Given the description of an element on the screen output the (x, y) to click on. 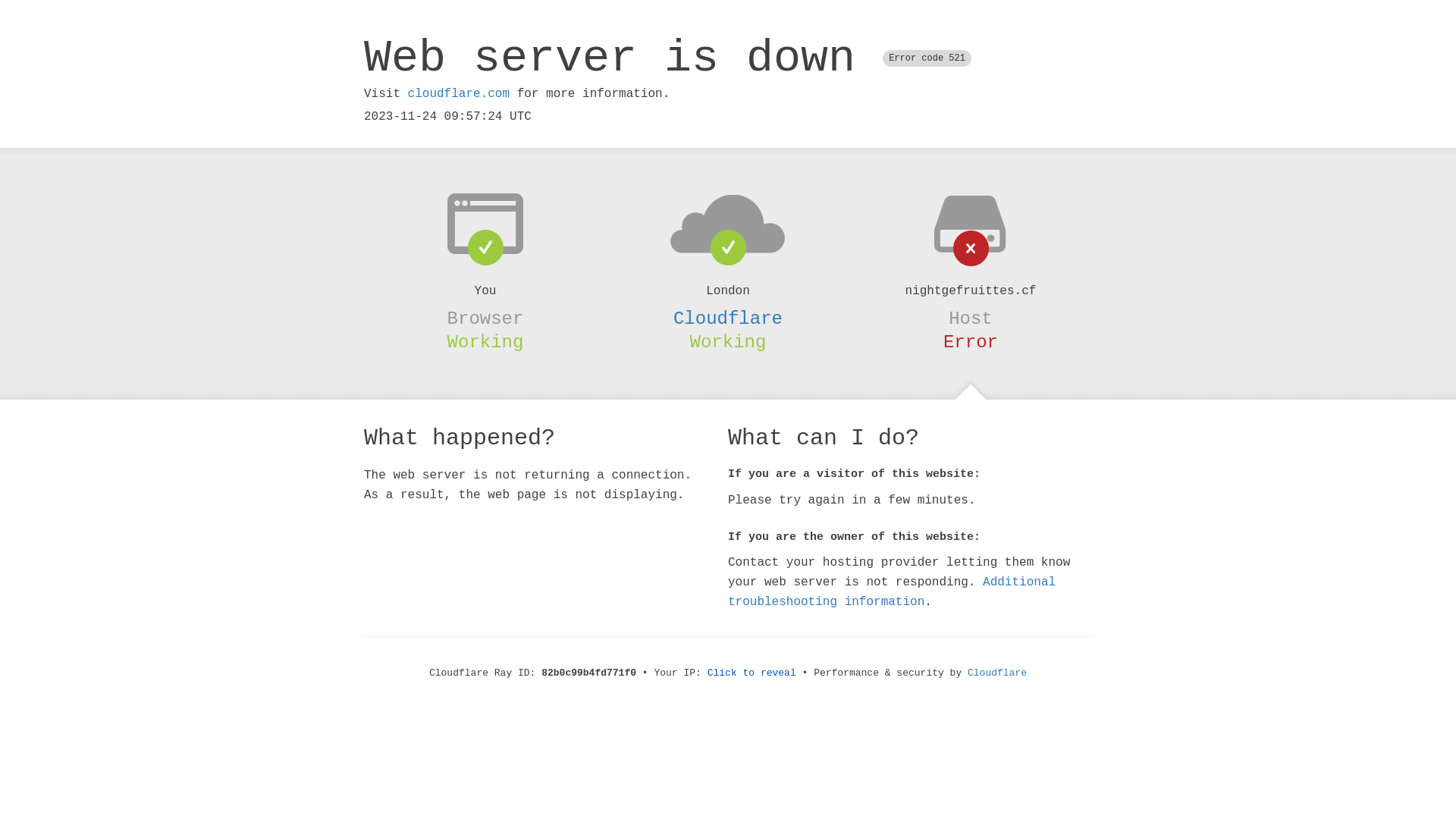
Cloudflare Element type: text (996, 672)
Additional troubleshooting information Element type: text (891, 591)
Cloudflare Element type: text (727, 318)
cloudflare.com Element type: text (458, 93)
Click to reveal Element type: text (751, 672)
